Given the description of an element on the screen output the (x, y) to click on. 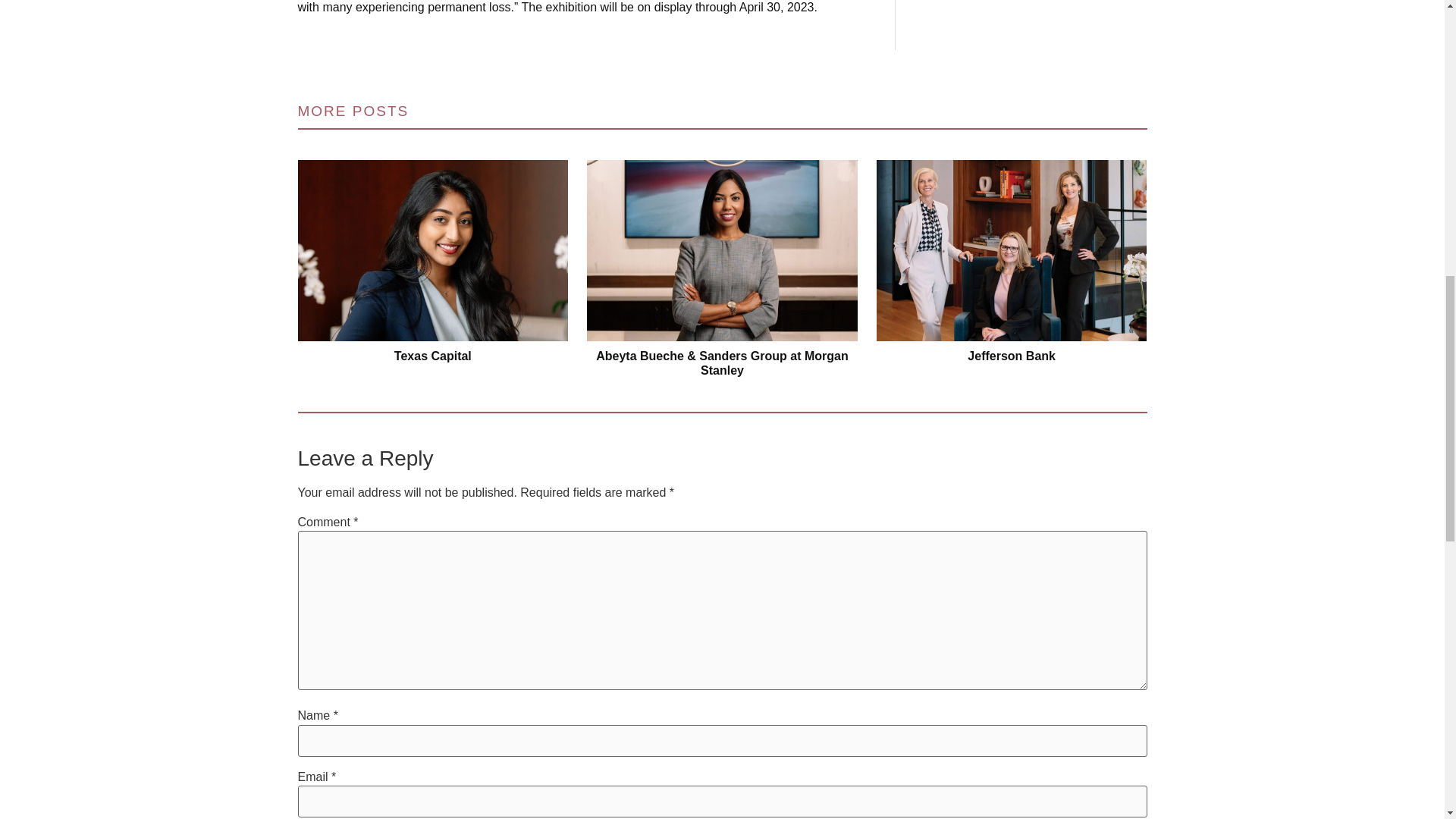
Jefferson Bank (1011, 250)
Texas Capital (432, 250)
